Given the description of an element on the screen output the (x, y) to click on. 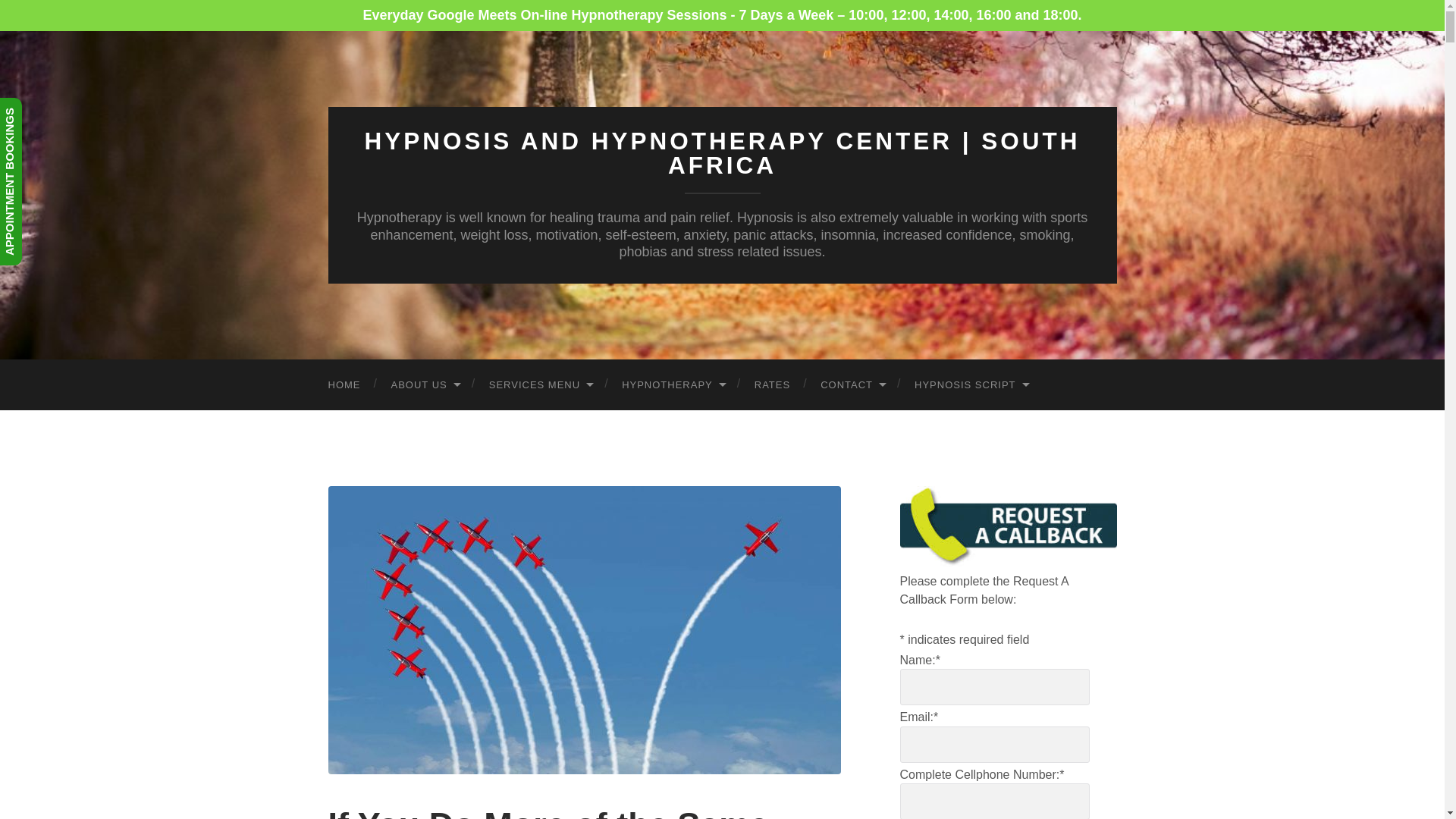
SERVICES MENU (540, 384)
HYPNOTHERAPY (673, 384)
ABOUT US (424, 384)
HOME (344, 384)
